Given the description of an element on the screen output the (x, y) to click on. 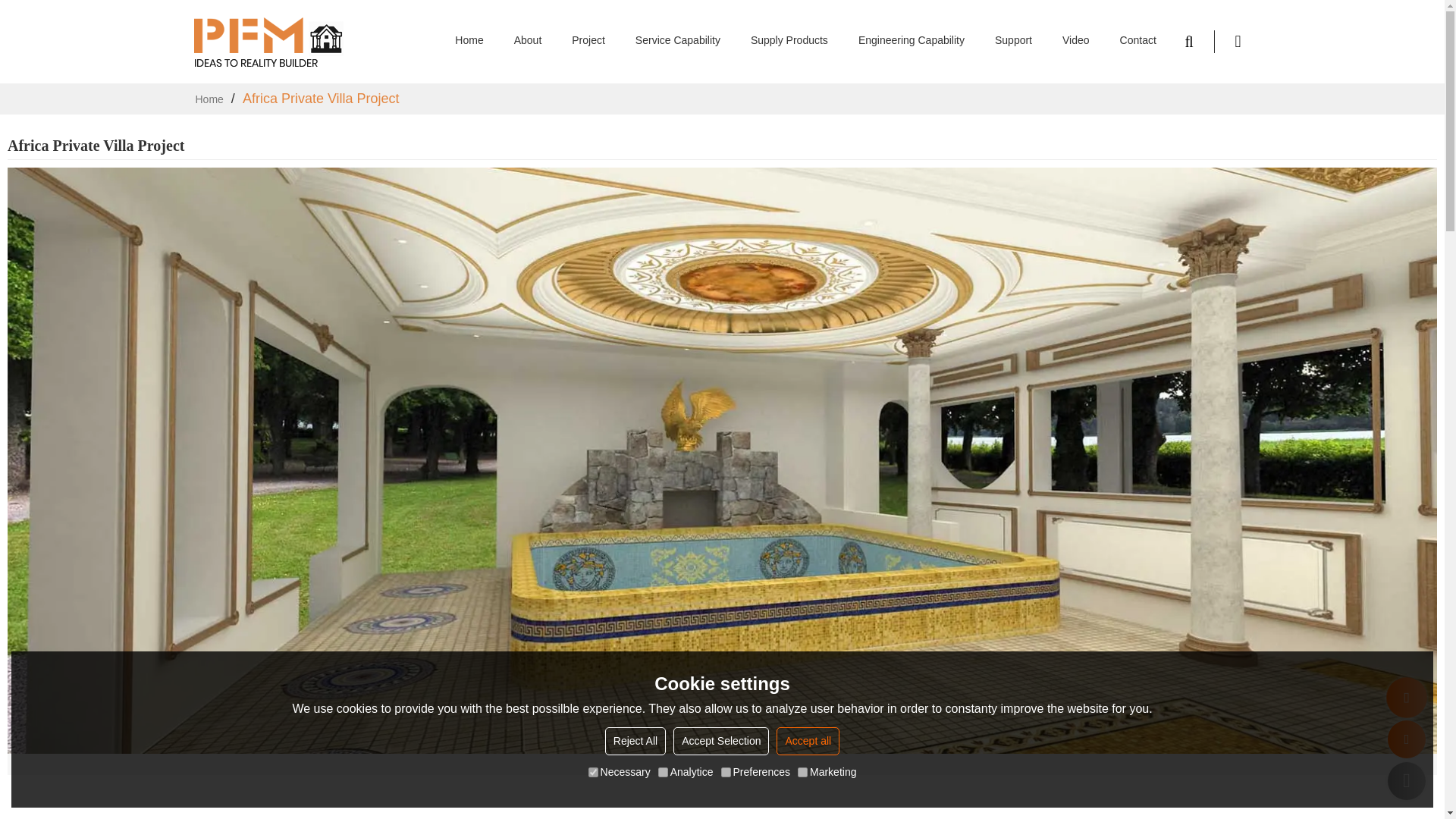
Supply Products (789, 41)
on (593, 772)
Service Capability (677, 41)
on (802, 772)
Engineering Capability (911, 41)
on (725, 772)
Service Capability (677, 41)
Project (588, 41)
on (663, 772)
Project (588, 41)
About (527, 41)
Home (468, 41)
About (527, 41)
Home (468, 41)
Supply Products (789, 41)
